Given the description of an element on the screen output the (x, y) to click on. 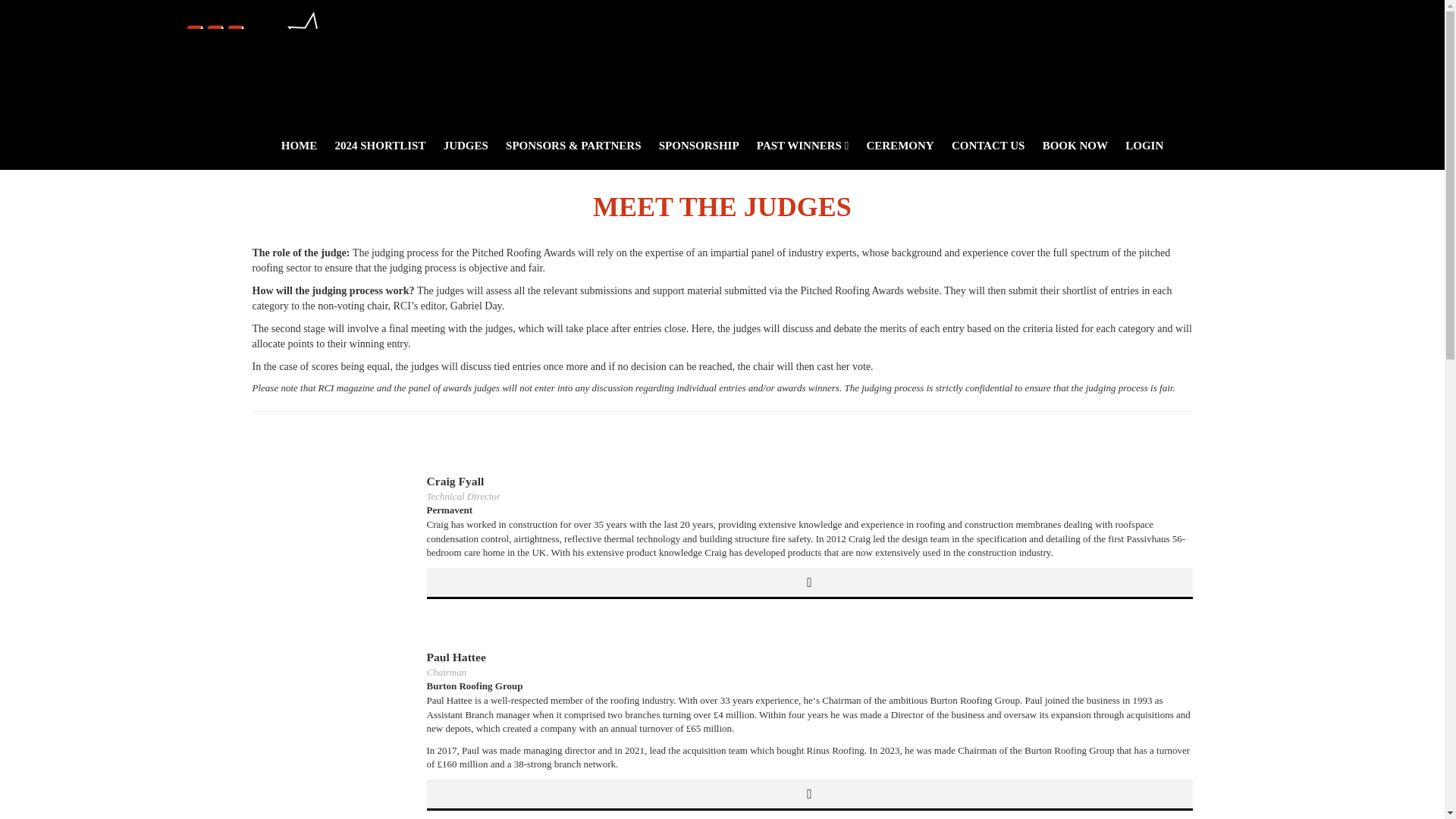
HOME (298, 145)
CEREMONY (899, 145)
PAST WINNERS (802, 145)
SPONSORSHIP (698, 145)
LOGIN (1144, 145)
BOOK NOW (1075, 145)
2024 SHORTLIST (379, 145)
CONTACT US (987, 145)
JUDGES (465, 145)
